Given the description of an element on the screen output the (x, y) to click on. 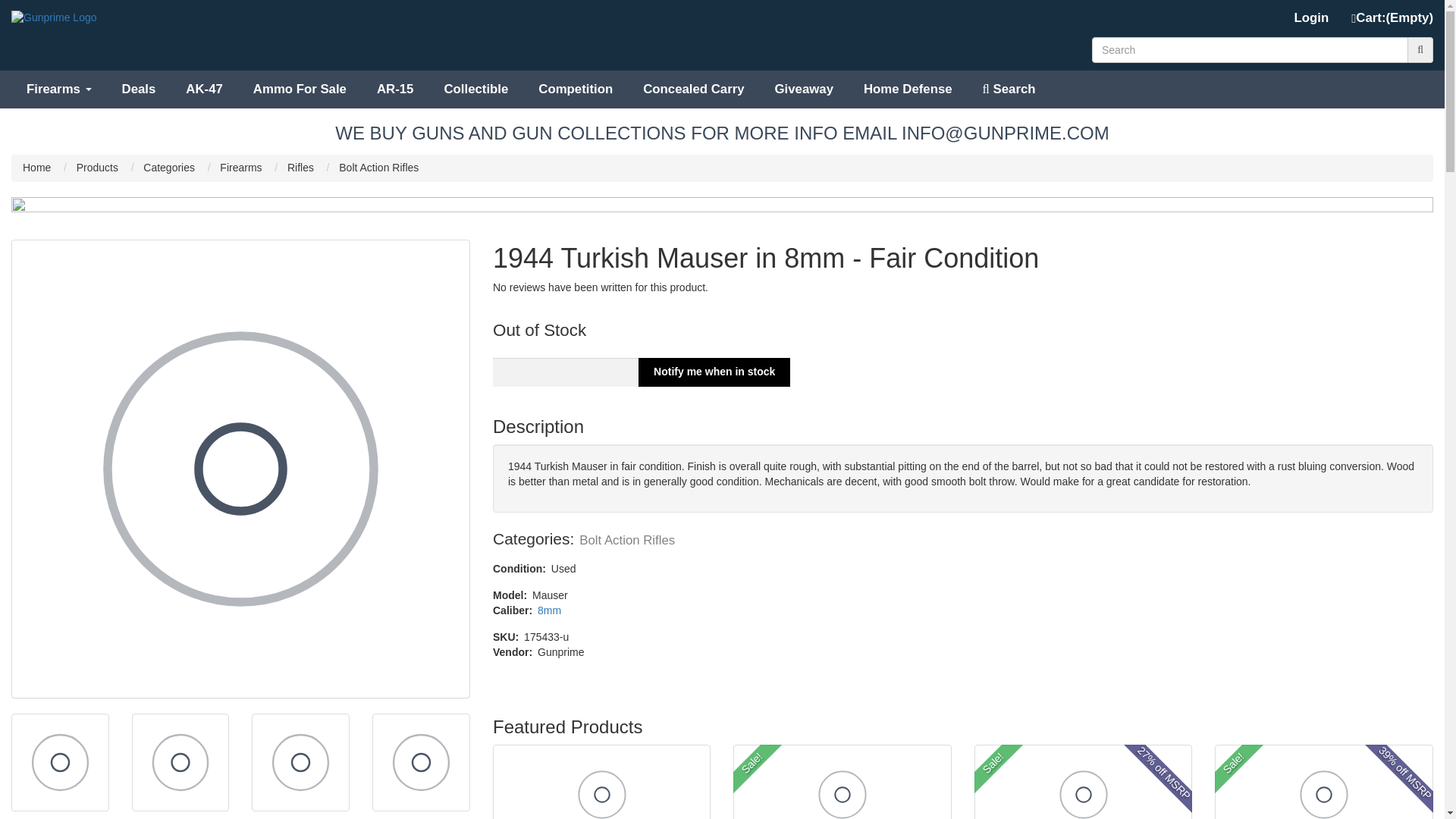
Login (1311, 17)
Collectible (475, 88)
Ammo For Sale (299, 88)
Concealed Carry (692, 88)
Search (1009, 88)
AK-47 (204, 88)
Firearms (58, 88)
AR-15 (395, 88)
Giveaway (804, 88)
Deals (138, 88)
